Given the description of an element on the screen output the (x, y) to click on. 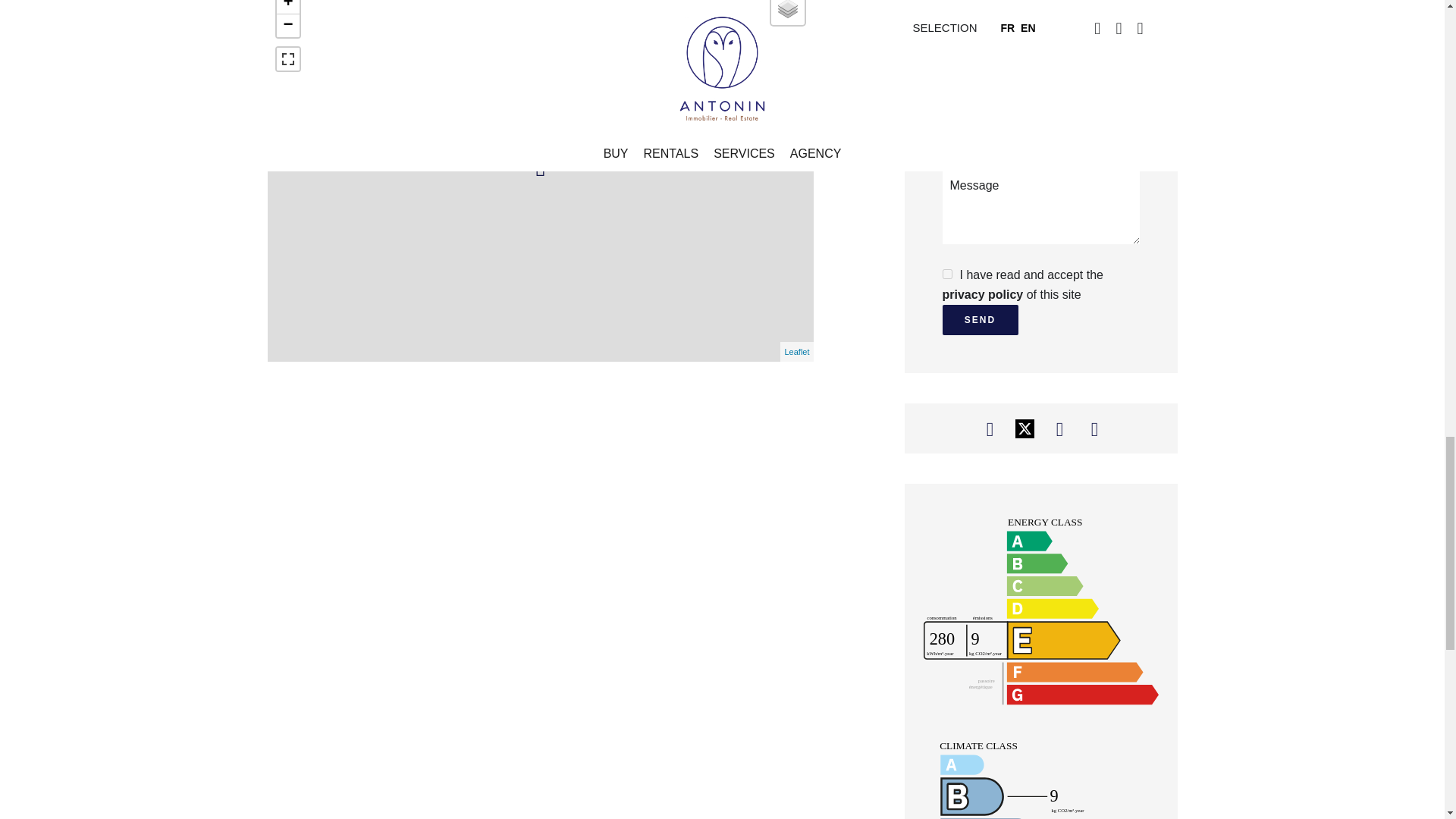
A JS library for interactive maps (796, 351)
View Fullscreen (287, 58)
Zoom out (287, 25)
on (947, 274)
Layers (786, 12)
Zoom in (287, 7)
